Given the description of an element on the screen output the (x, y) to click on. 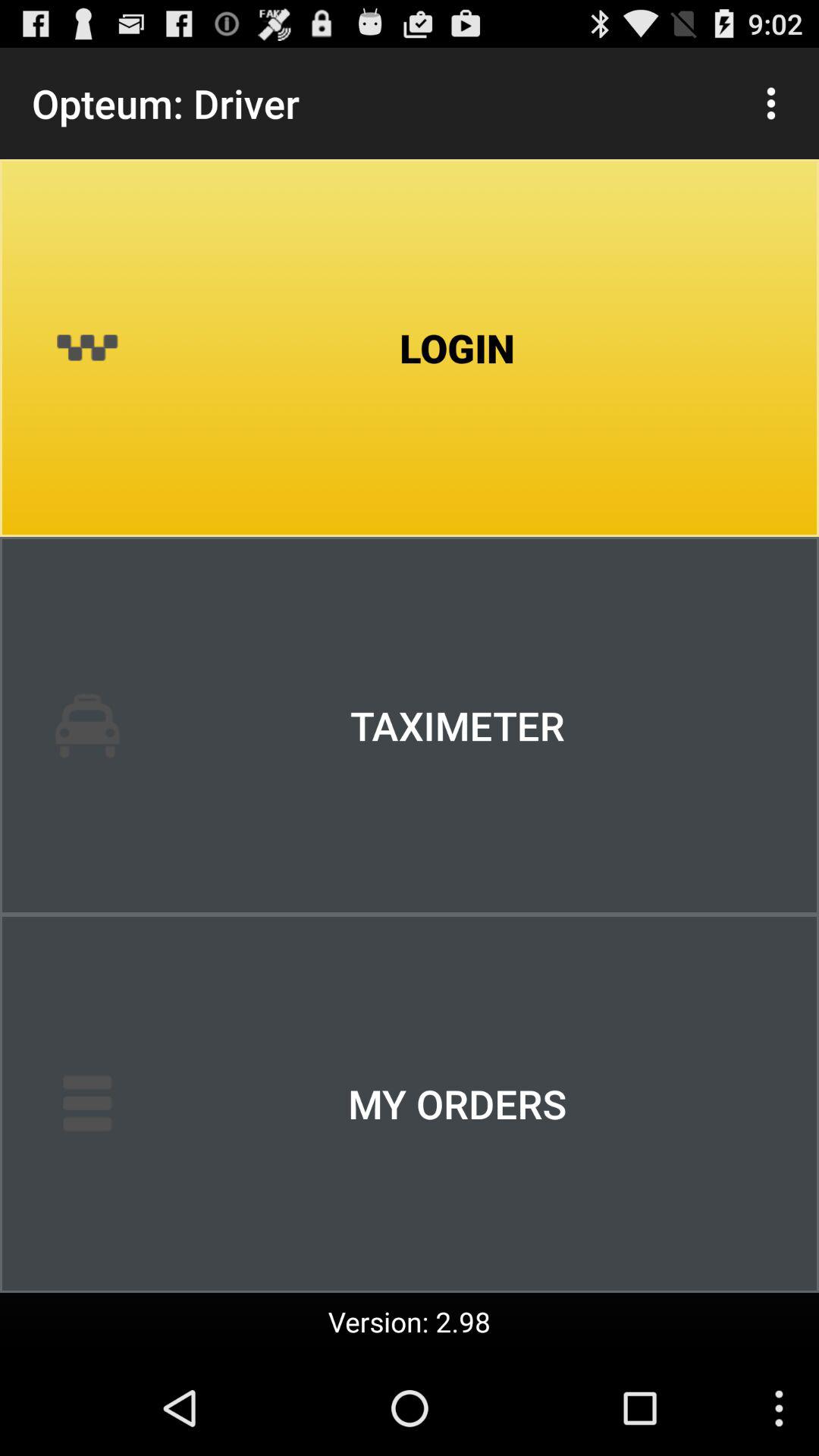
choose item above the version: 2.98 (409, 1103)
